Given the description of an element on the screen output the (x, y) to click on. 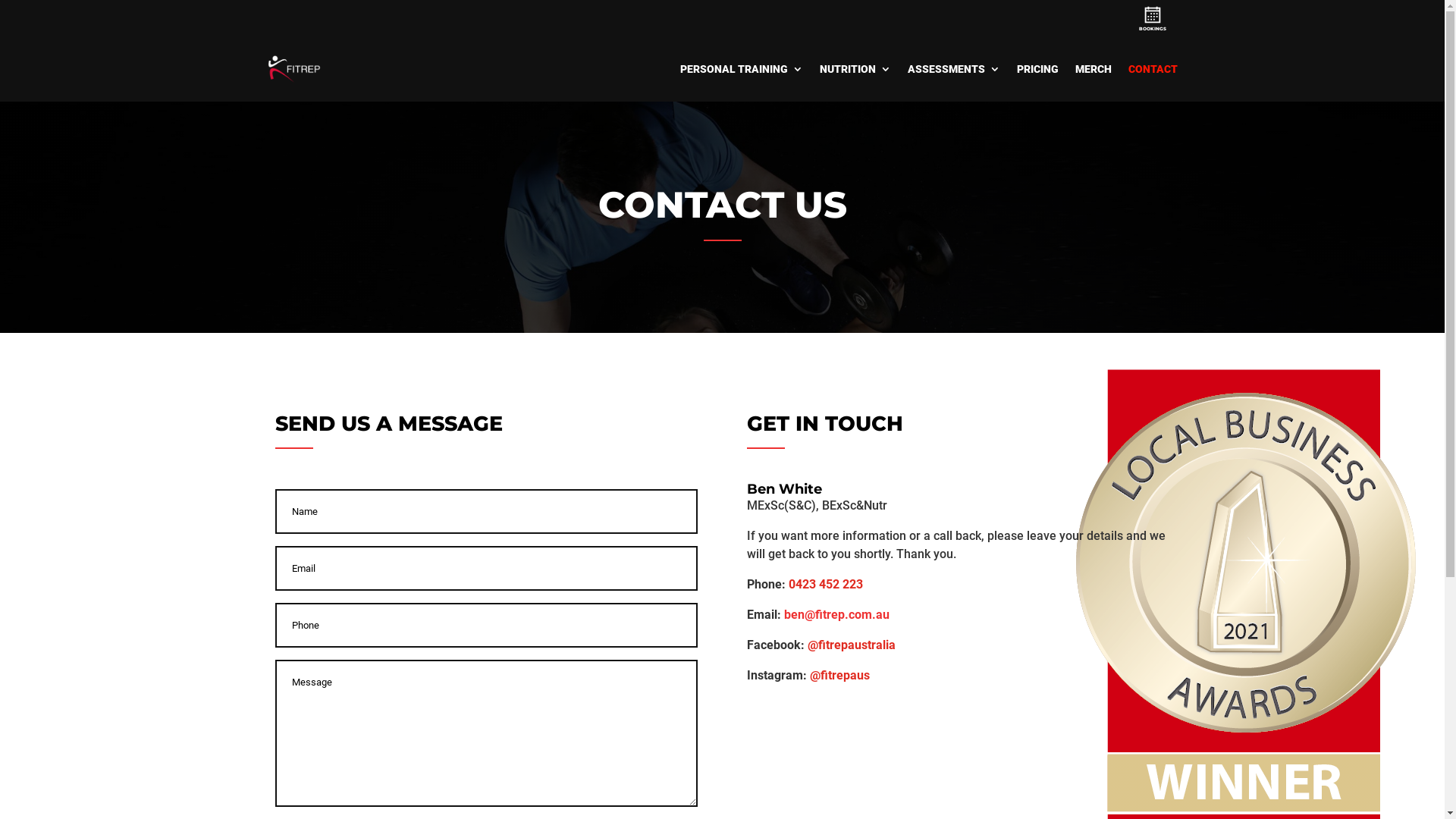
@fitrepaustralia Element type: text (851, 644)
BOOKINGS Element type: text (1152, 28)
0423 452 223 Element type: text (825, 584)
NUTRITION Element type: text (854, 68)
PRICING Element type: text (1036, 68)
CONTACT Element type: text (1152, 68)
PERSONAL TRAINING Element type: text (740, 68)
ASSESSMENTS Element type: text (952, 68)
@fitrepaus Element type: text (839, 675)
MERCH Element type: text (1093, 68)
